Given the description of an element on the screen output the (x, y) to click on. 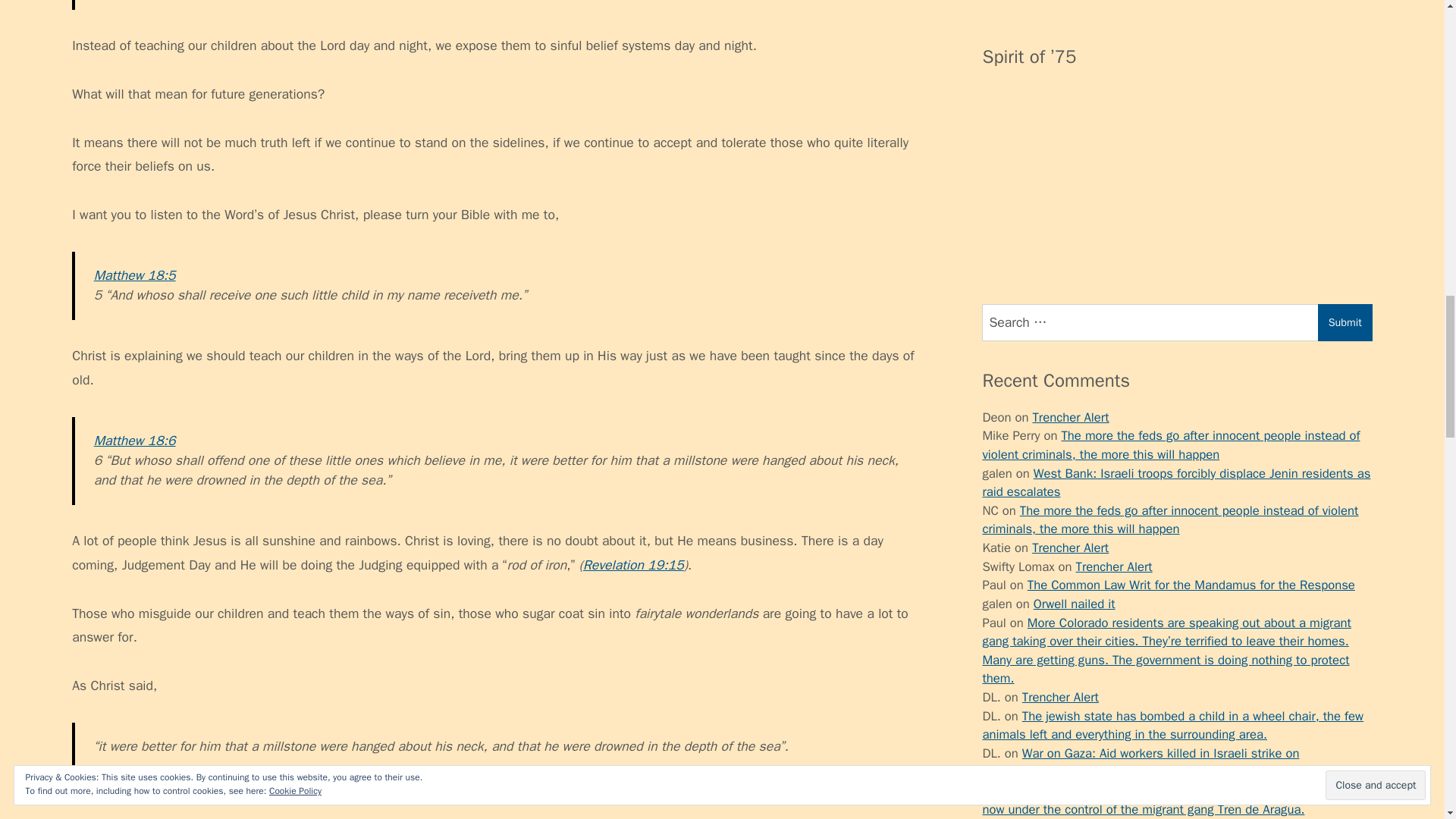
Matthew 18:6 (135, 440)
Matthew 18:5 (135, 274)
porno (997, 433)
